Given the description of an element on the screen output the (x, y) to click on. 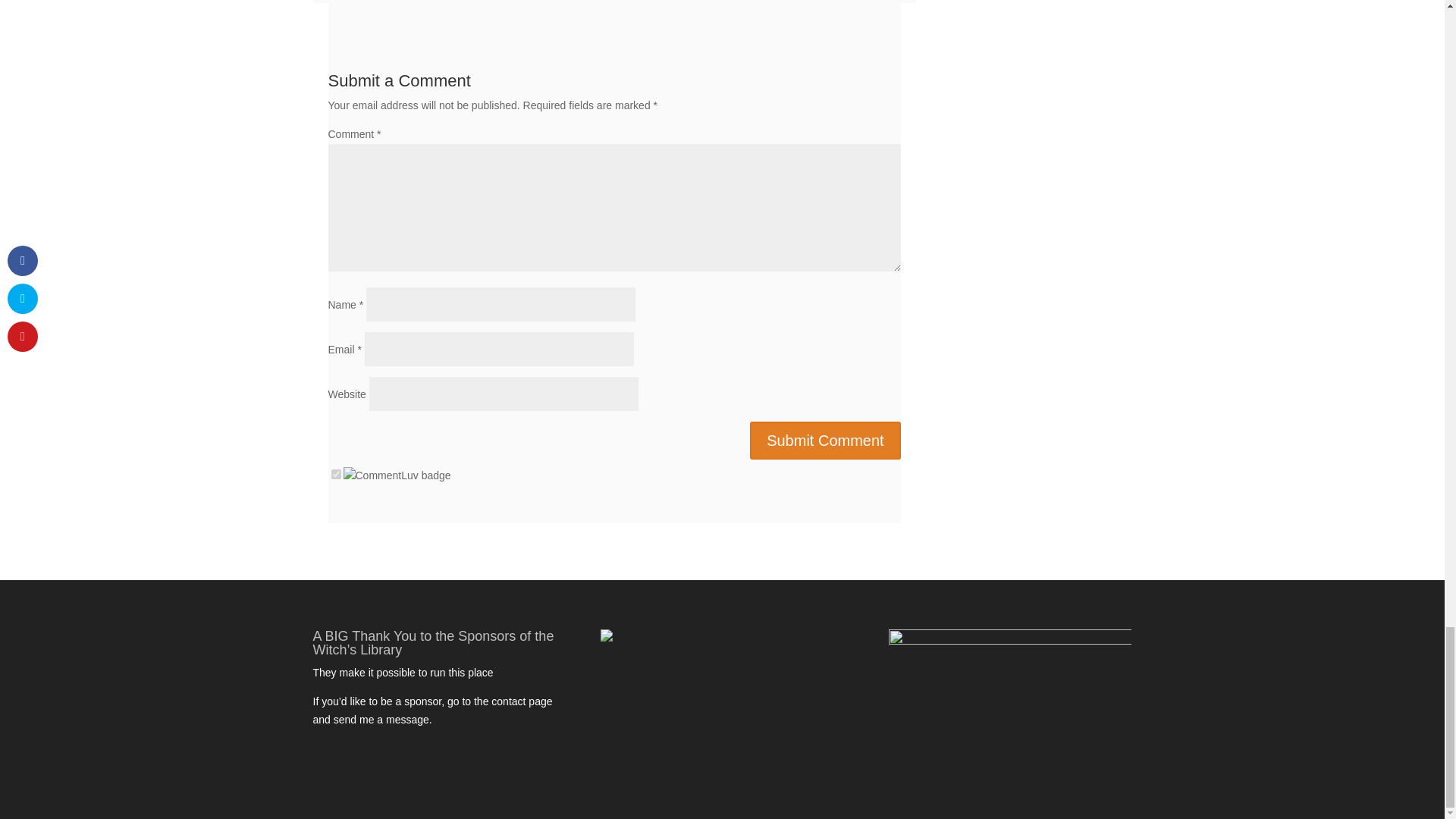
Submit Comment (825, 440)
on (335, 474)
